Given the description of an element on the screen output the (x, y) to click on. 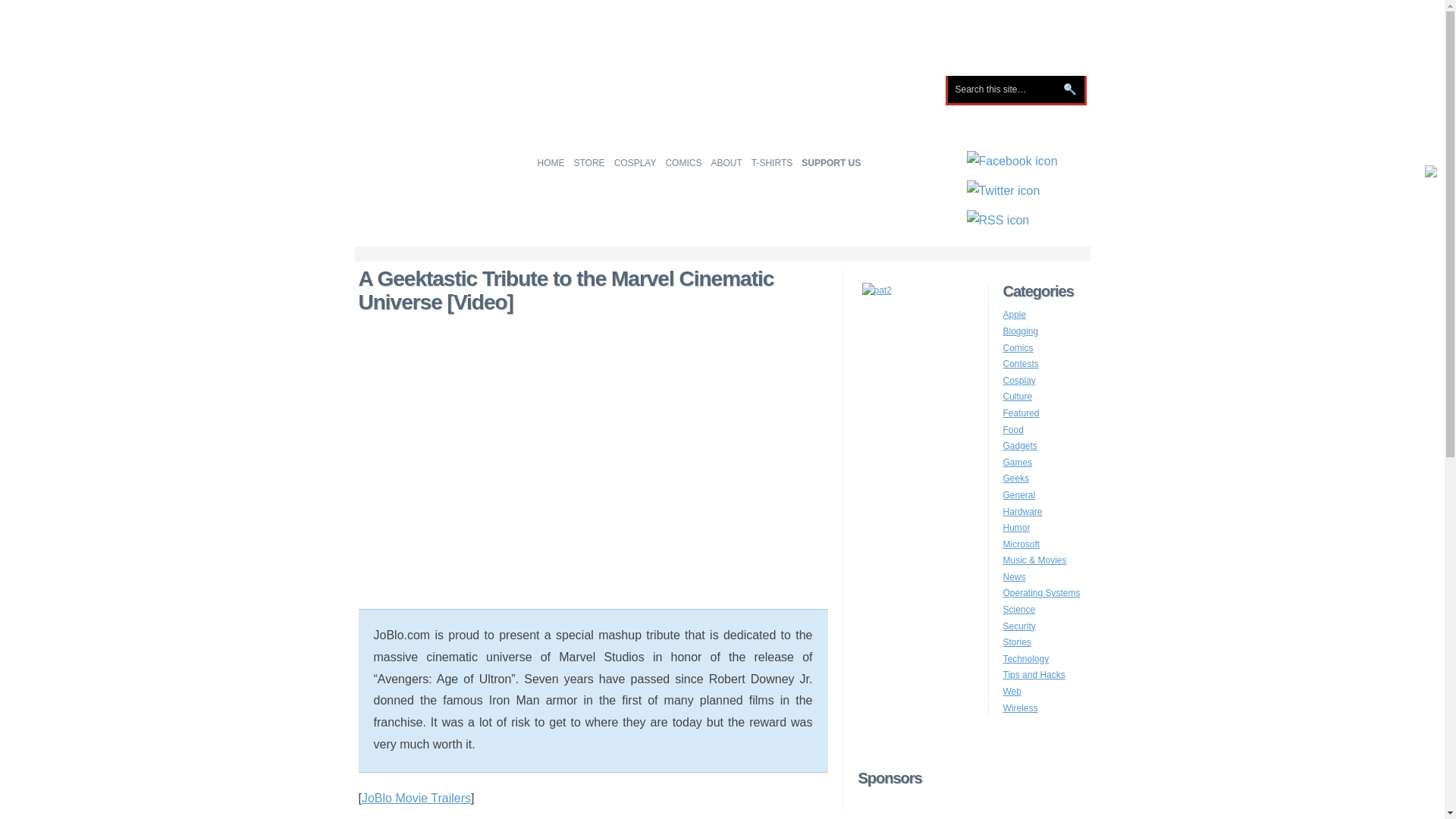
General (1019, 494)
Comics (1017, 347)
Featured (1021, 412)
JoBlo Movie Trailers (415, 797)
T-SHIRTS (771, 162)
Culture (1017, 396)
ABOUT (725, 162)
Food (1013, 429)
STORE (588, 162)
Apple (1014, 314)
Gadgets (1019, 445)
Geeks are Sexy (721, 121)
Geeks (1016, 478)
Games (1017, 462)
Cosplay (1019, 380)
